Given the description of an element on the screen output the (x, y) to click on. 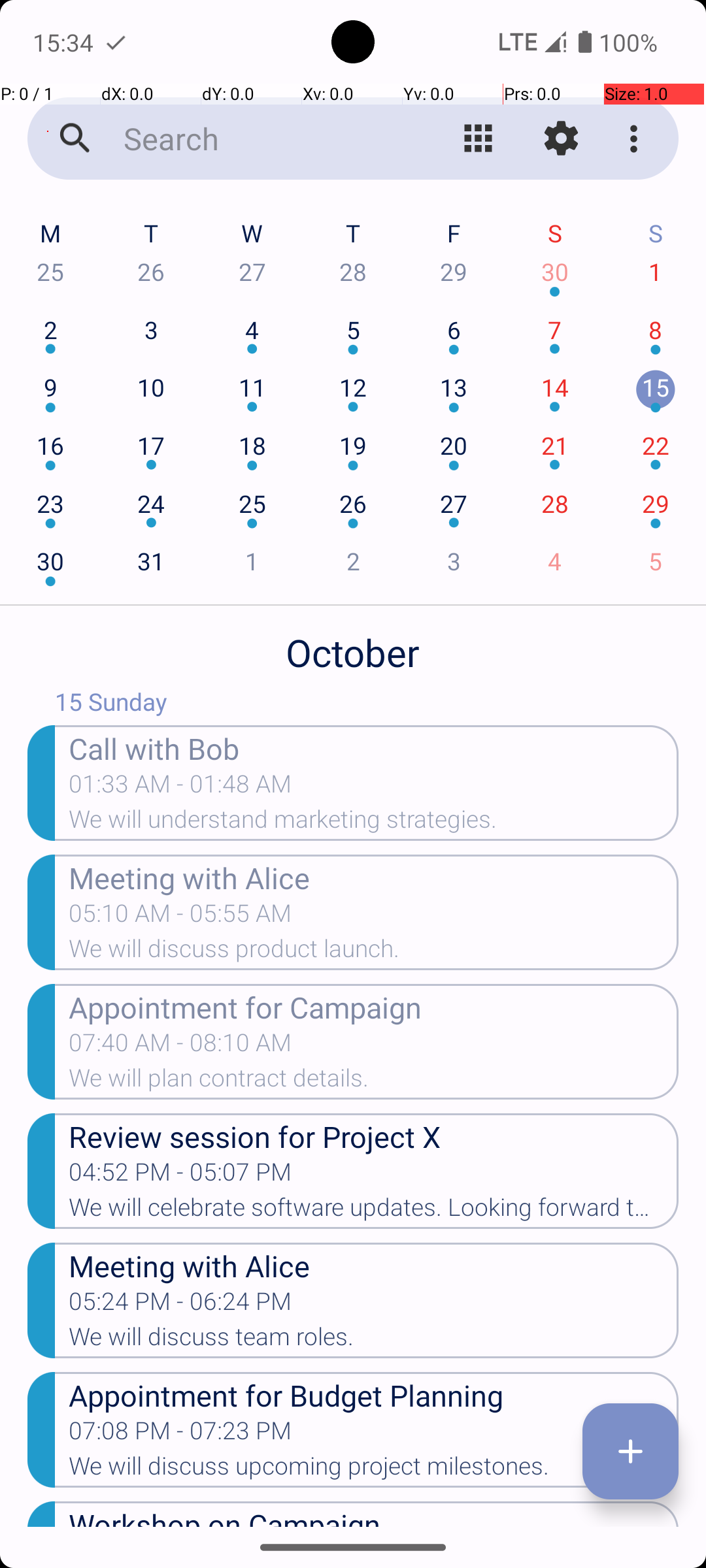
01:33 AM - 01:48 AM Element type: android.widget.TextView (179, 787)
We will understand marketing strategies. Element type: android.widget.TextView (373, 822)
05:10 AM - 05:55 AM Element type: android.widget.TextView (179, 916)
We will discuss product launch. Element type: android.widget.TextView (373, 952)
07:40 AM - 08:10 AM Element type: android.widget.TextView (179, 1046)
We will plan contract details. Element type: android.widget.TextView (373, 1081)
04:52 PM - 05:07 PM Element type: android.widget.TextView (179, 1175)
We will celebrate software updates. Looking forward to productive discussions. Element type: android.widget.TextView (373, 1210)
05:24 PM - 06:24 PM Element type: android.widget.TextView (179, 1305)
We will discuss team roles. Element type: android.widget.TextView (373, 1340)
07:08 PM - 07:23 PM Element type: android.widget.TextView (179, 1434)
We will discuss upcoming project milestones. Element type: android.widget.TextView (373, 1469)
